Given the description of an element on the screen output the (x, y) to click on. 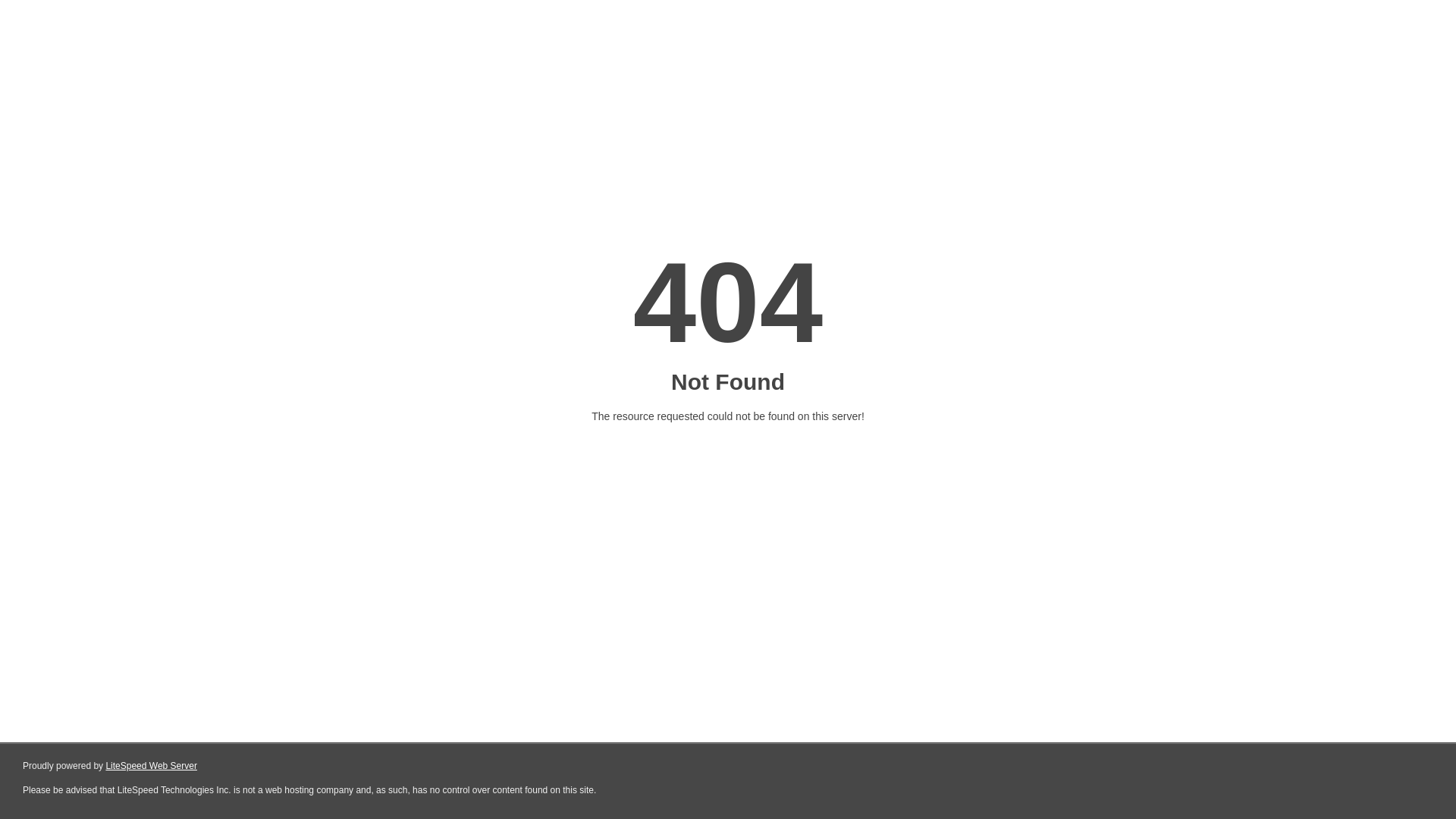
LiteSpeed Web Server Element type: text (151, 765)
